Given the description of an element on the screen output the (x, y) to click on. 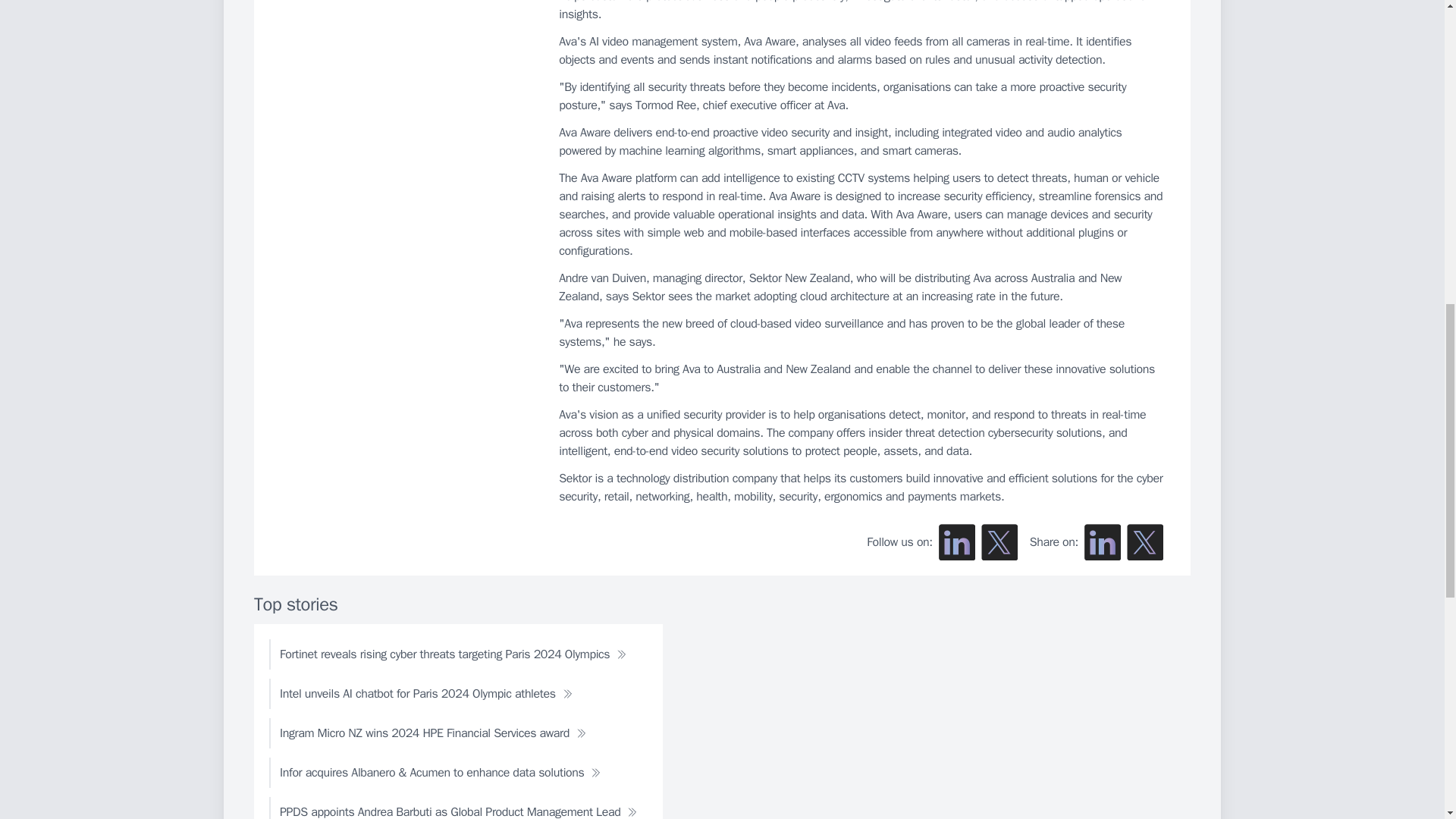
Ingram Micro NZ wins 2024 HPE Financial Services award (432, 733)
Intel unveils AI chatbot for Paris 2024 Olympic athletes (426, 693)
